Given the description of an element on the screen output the (x, y) to click on. 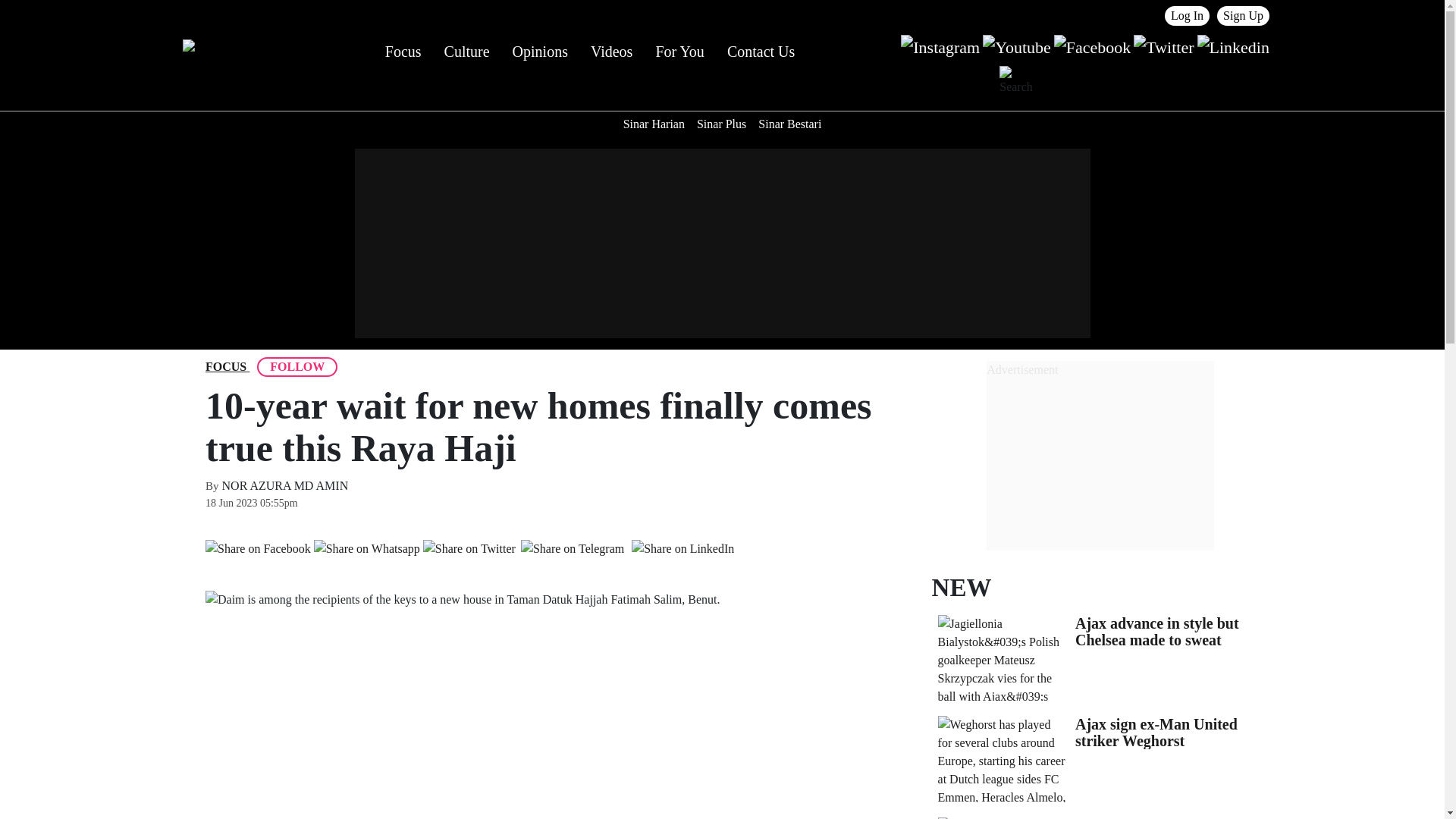
Sinar Bestari (789, 124)
Sinar Plus (721, 124)
Share on Twitter (469, 547)
Share on Telegram (572, 548)
Facebook (1092, 46)
Opinions (539, 51)
Focus (403, 51)
Log In (1186, 15)
Sinar Daily (226, 51)
Focus (225, 366)
